Given the description of an element on the screen output the (x, y) to click on. 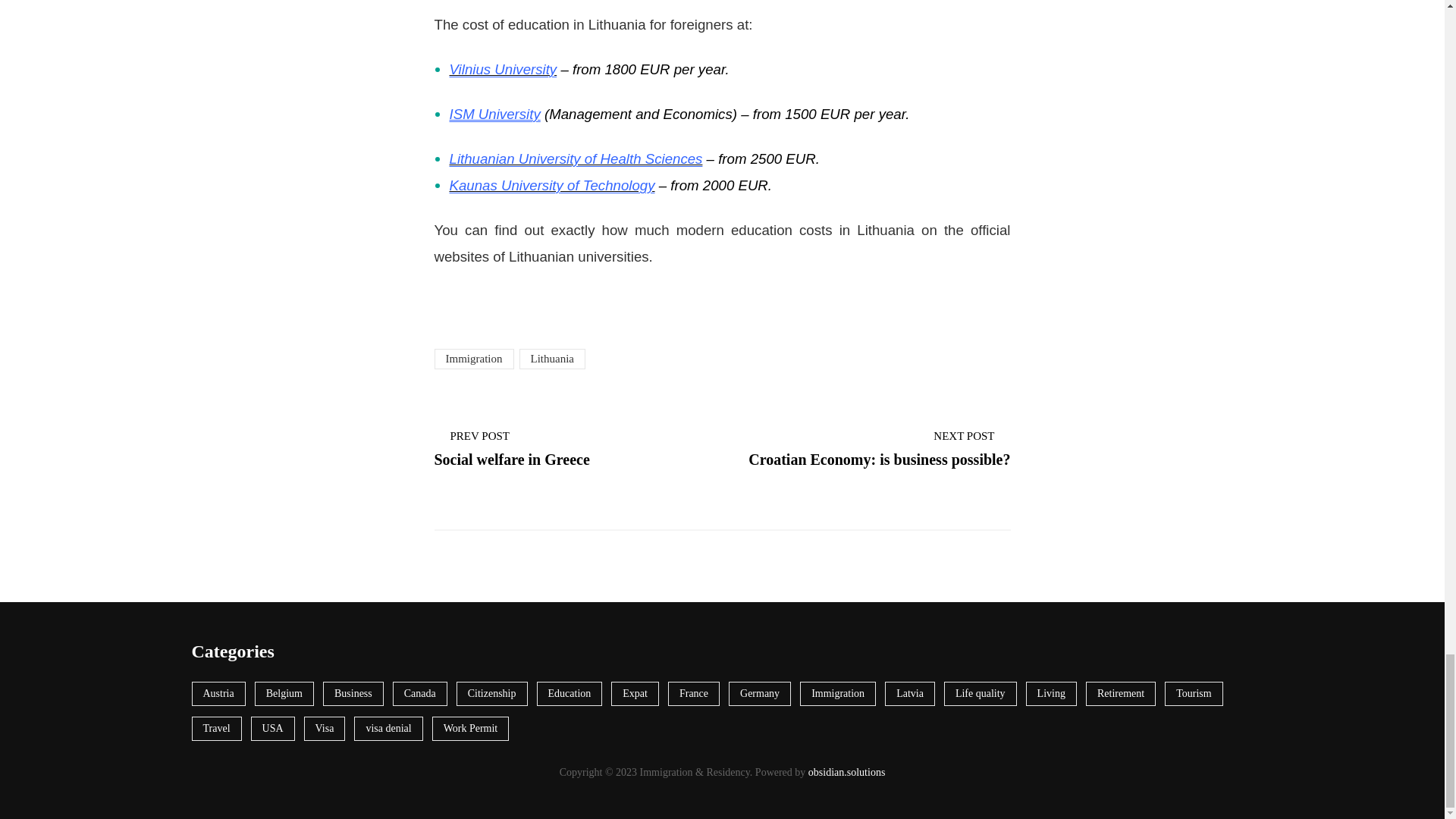
Tourism (1193, 693)
Work Permit (470, 728)
Lithuania (551, 358)
Vilnius University (502, 68)
Immigration (473, 358)
Travel (877, 447)
Citizenship (215, 728)
France (565, 447)
